Given the description of an element on the screen output the (x, y) to click on. 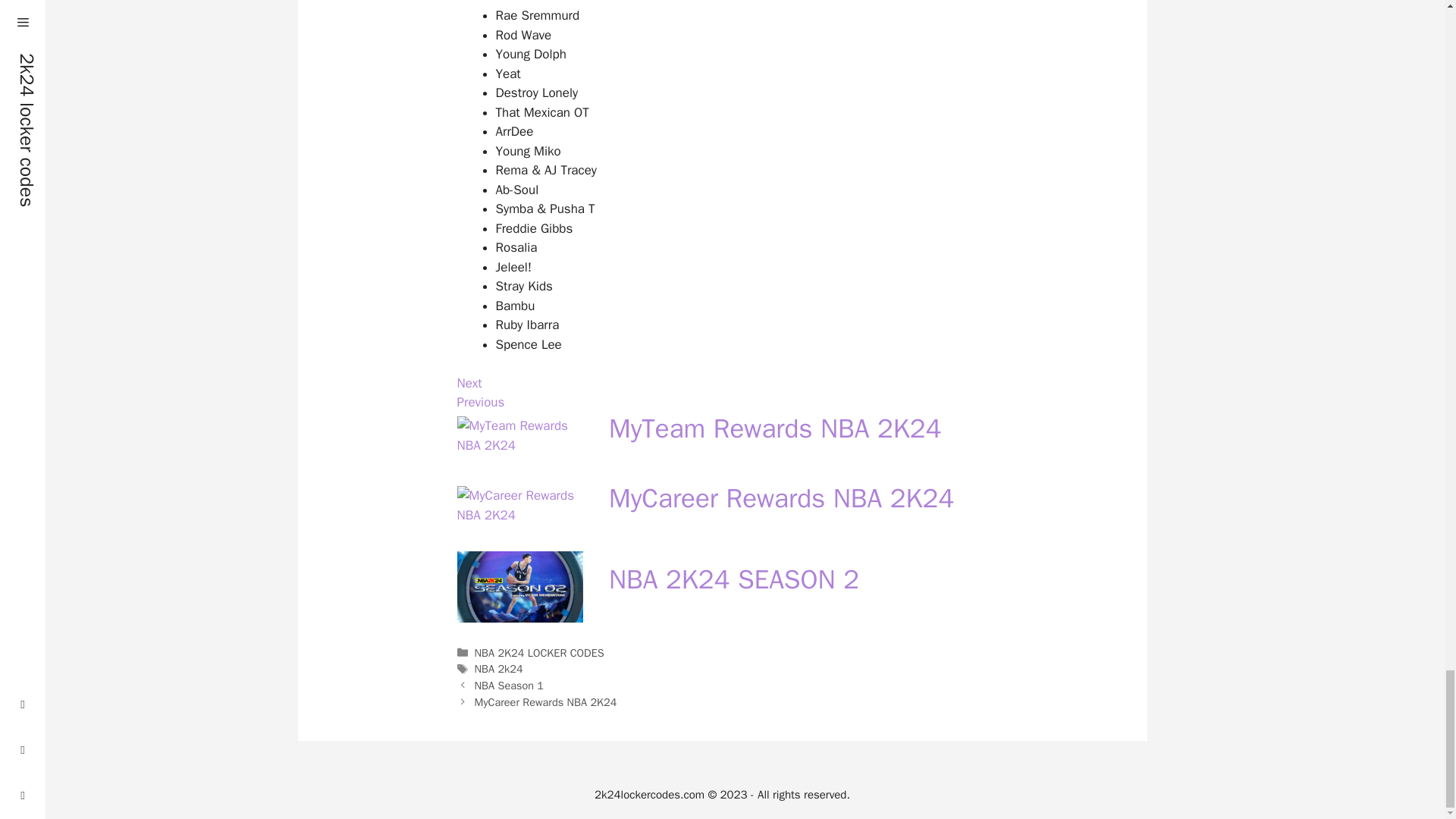
NBA 2K24 SEASON 2 (722, 586)
MyCareer Rewards NBA 2K24 (780, 498)
MyTeam Rewards NBA 2K24 (722, 435)
NBA 2K24 LOCKER CODES (539, 653)
NBA 2K24 SEASON 2 (733, 579)
NBA Season 1 (508, 685)
MyCareer Rewards NBA 2K24 (545, 702)
MyCareer Rewards NBA 2K24 (722, 505)
MyTeam Rewards NBA 2K24 (774, 428)
Next (469, 383)
